Given the description of an element on the screen output the (x, y) to click on. 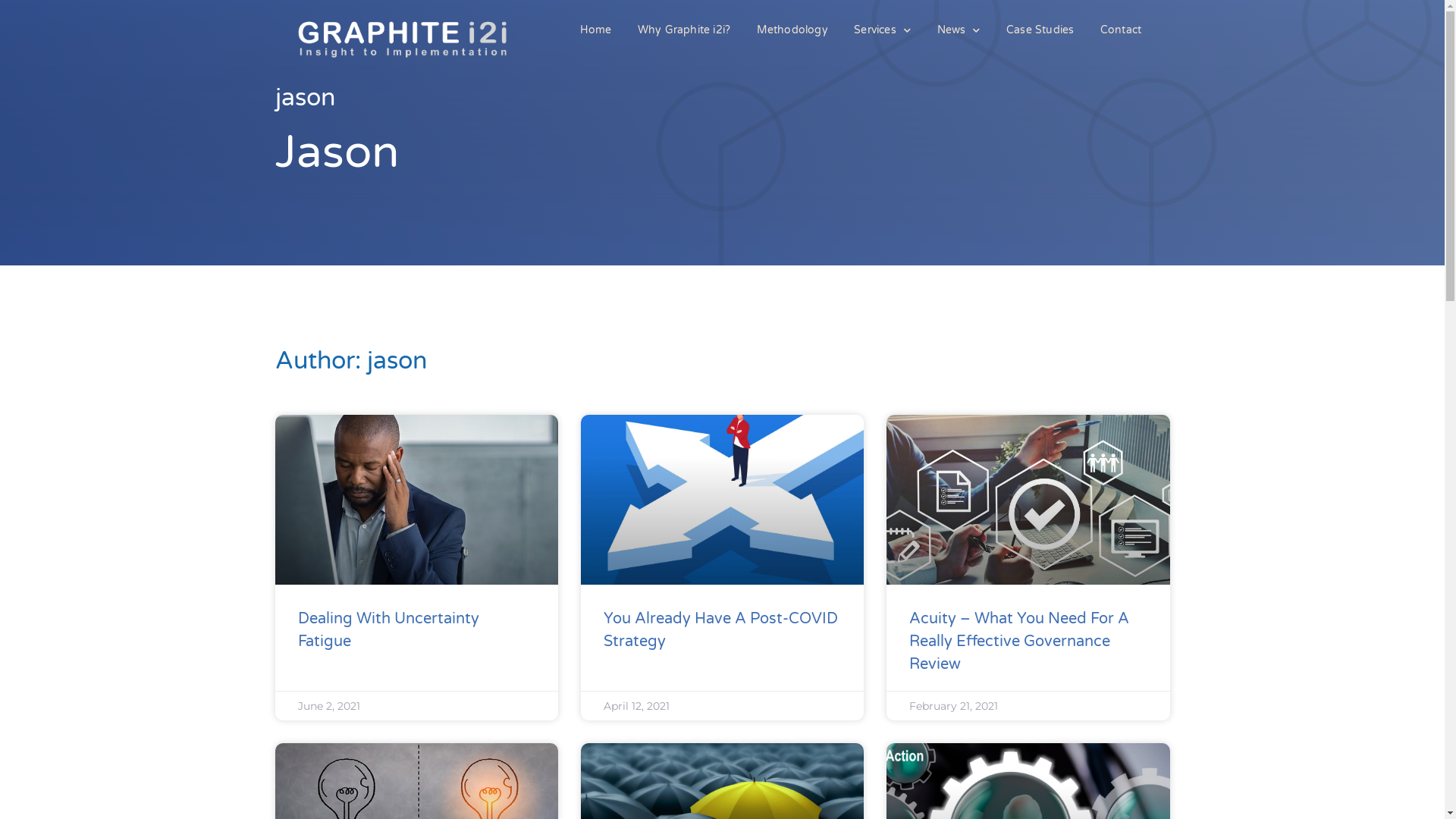
Dealing With Uncertainty Fatigue Element type: text (387, 629)
News Element type: text (957, 30)
You Already Have A Post-COVID Strategy Element type: text (720, 629)
Case Studies Element type: text (1040, 30)
Why Graphite i2i? Element type: text (683, 30)
Methodology Element type: text (791, 30)
Services Element type: text (881, 30)
Home Element type: text (595, 30)
Contact Element type: text (1120, 30)
